Given the description of an element on the screen output the (x, y) to click on. 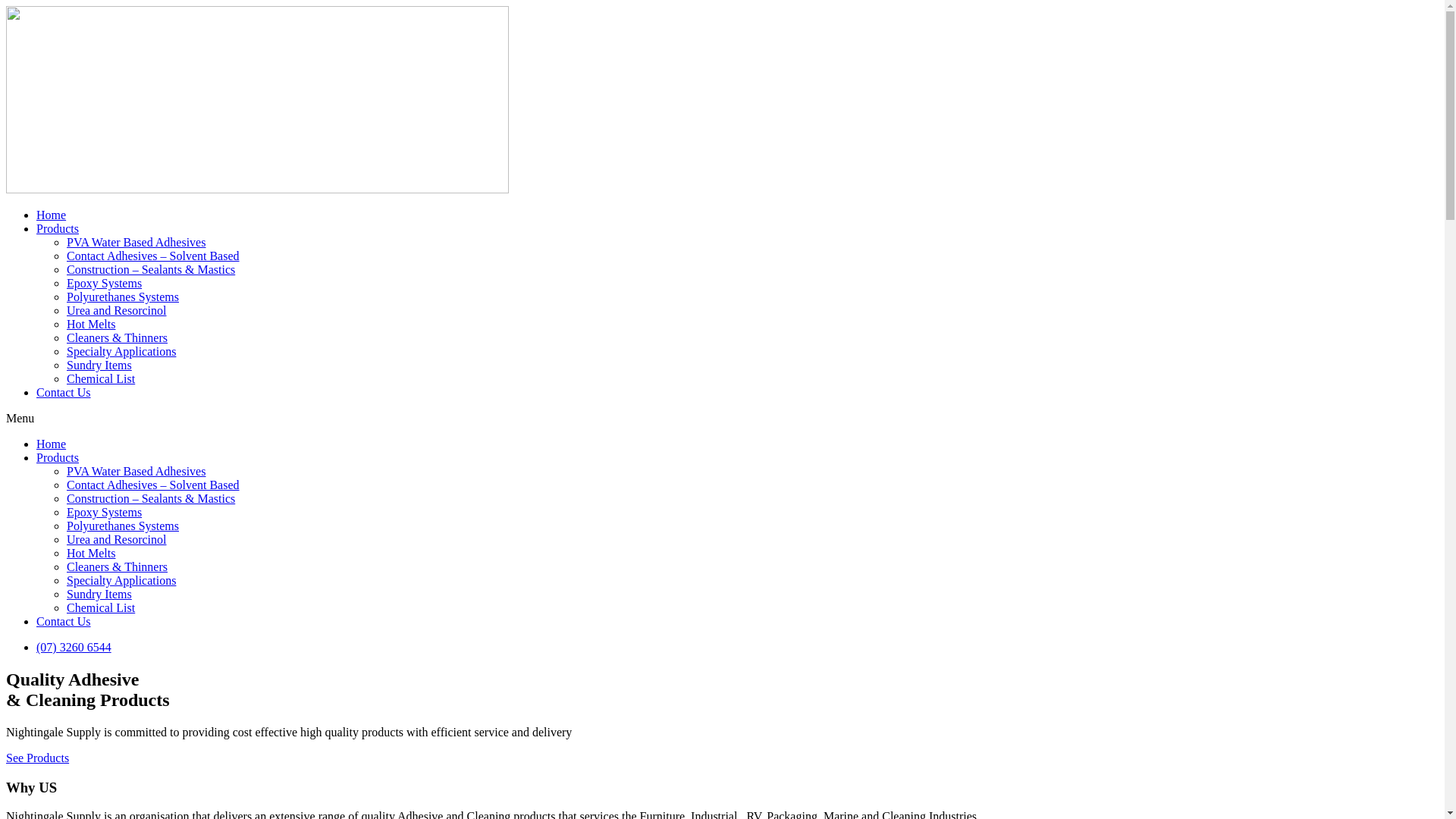
Chemical List Element type: text (100, 378)
Cleaners & Thinners Element type: text (116, 566)
PVA Water Based Adhesives Element type: text (135, 470)
Contact Us Element type: text (63, 391)
Epoxy Systems Element type: text (103, 511)
Epoxy Systems Element type: text (103, 282)
Polyurethanes Systems Element type: text (122, 525)
See Products Element type: text (37, 757)
Hot Melts Element type: text (90, 323)
Home Element type: text (50, 443)
Specialty Applications Element type: text (120, 580)
Urea and Resorcinol Element type: text (116, 310)
Home Element type: text (50, 214)
Polyurethanes Systems Element type: text (122, 296)
Sundry Items Element type: text (98, 593)
Contact Us Element type: text (63, 621)
Cleaners & Thinners Element type: text (116, 337)
Urea and Resorcinol Element type: text (116, 539)
(07) 3260 6544 Element type: text (73, 646)
Hot Melts Element type: text (90, 552)
PVA Water Based Adhesives Element type: text (135, 241)
Sundry Items Element type: text (98, 364)
Products Element type: text (57, 457)
Specialty Applications Element type: text (120, 351)
Products Element type: text (57, 228)
Chemical List Element type: text (100, 607)
